Given the description of an element on the screen output the (x, y) to click on. 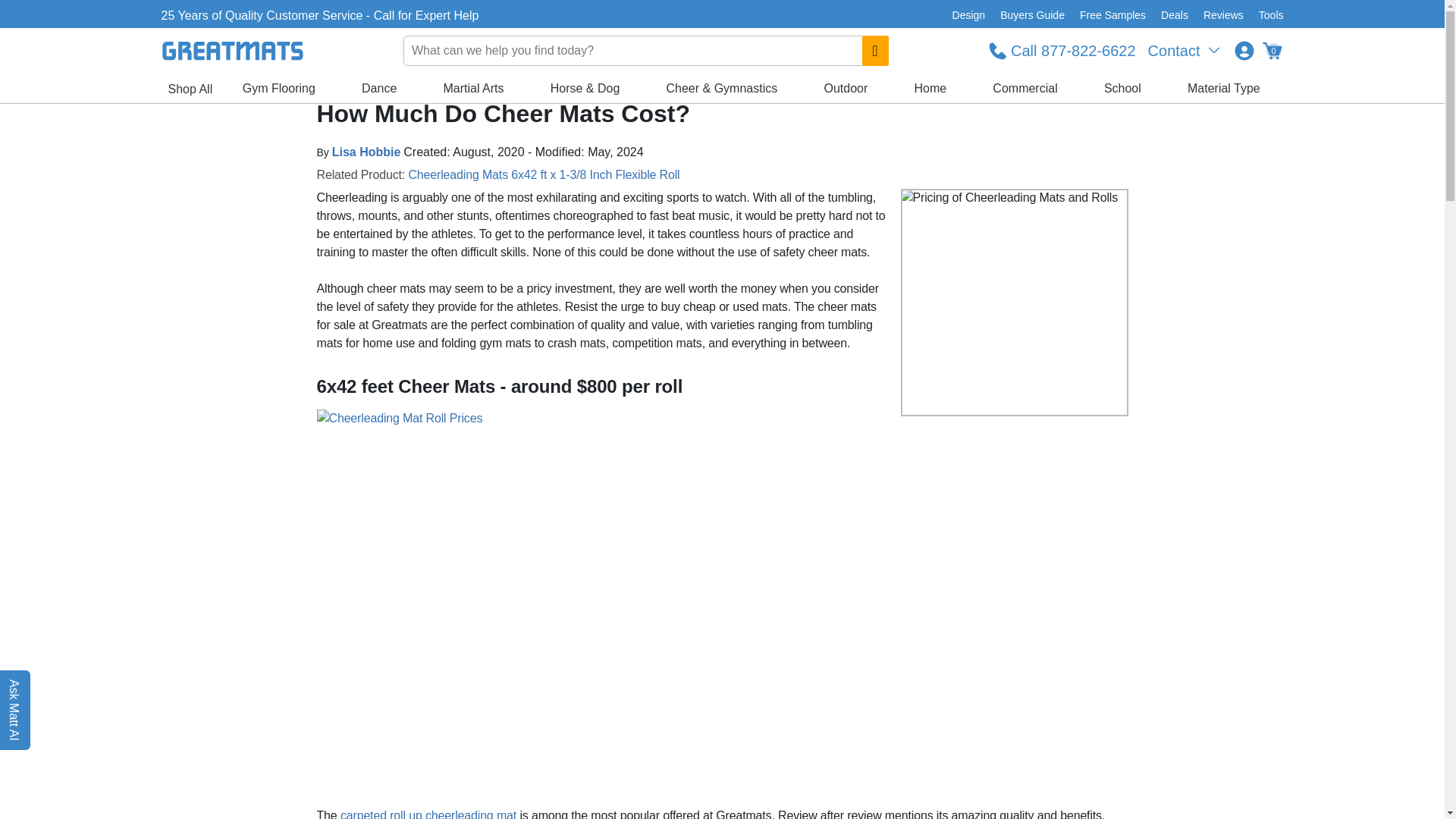
Shop All (189, 89)
Tools (1267, 15)
Buyers Guide (1031, 15)
Greatmats (300, 82)
Contact (1184, 50)
Free Samples (1112, 15)
Call 877-822-6622 (1061, 50)
0 (1271, 50)
Deals (1174, 15)
Reviews (1222, 15)
Design (968, 15)
